Given the description of an element on the screen output the (x, y) to click on. 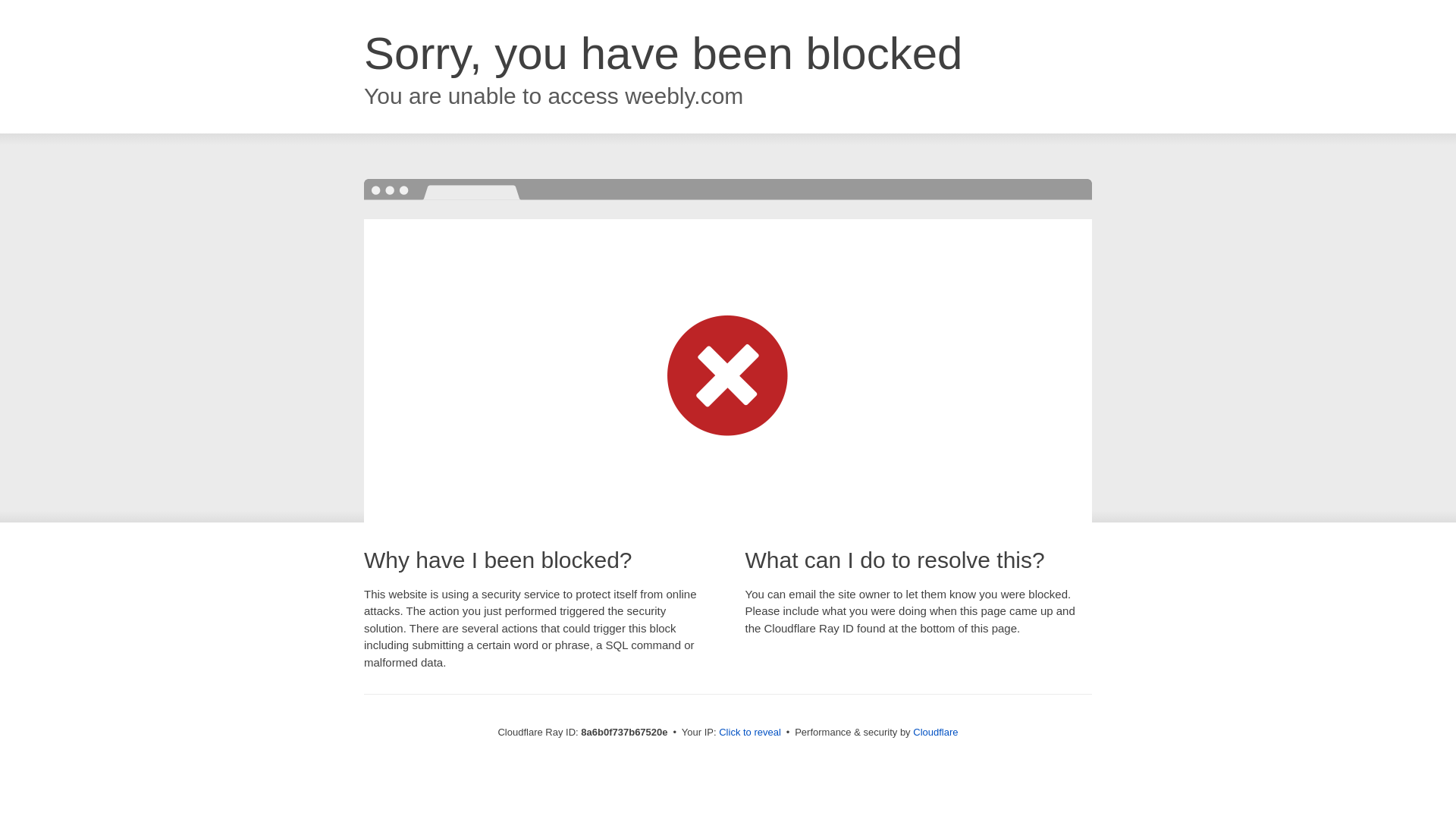
Click to reveal (749, 732)
Cloudflare (935, 731)
